Given the description of an element on the screen output the (x, y) to click on. 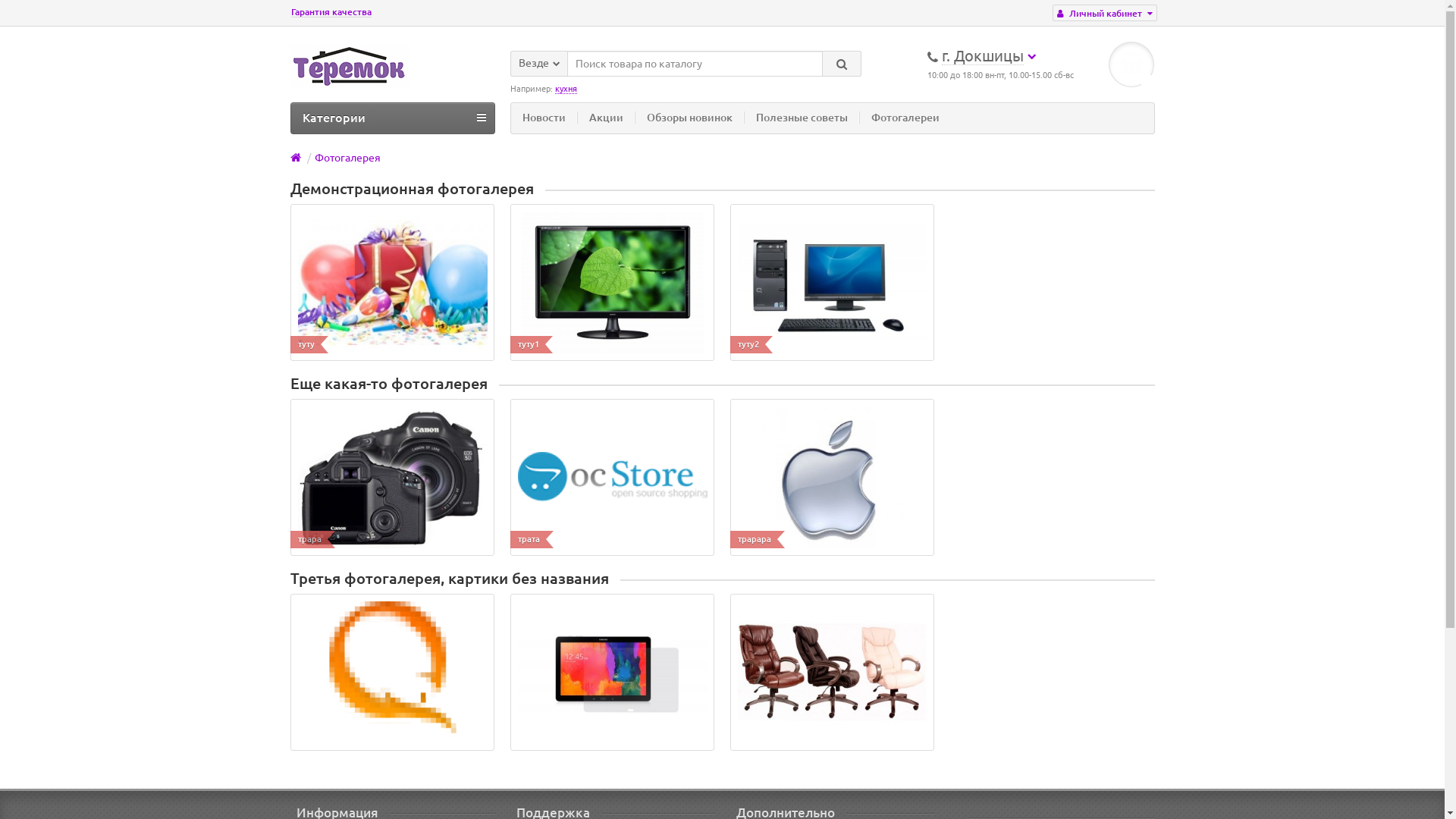
0 Element type: text (1131, 64)
